Given the description of an element on the screen output the (x, y) to click on. 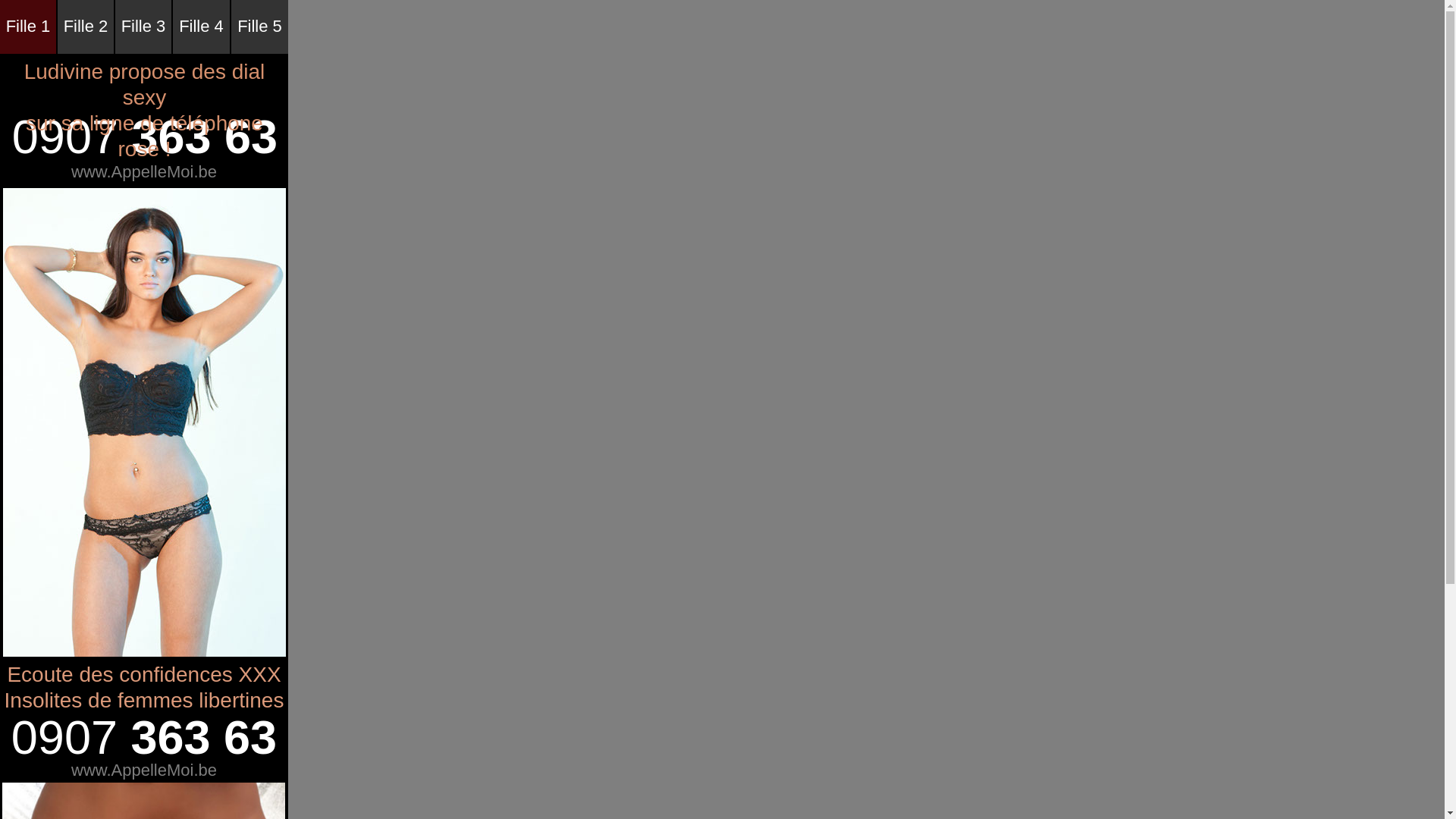
Fille 3 Element type: text (143, 26)
Fille 5 Element type: text (259, 26)
Fille 1 Element type: text (28, 26)
0907 363 63 Element type: text (144, 137)
Fille 4 Element type: text (200, 26)
0907 363 63 Element type: text (144, 738)
Fille 2 Element type: text (85, 26)
